Given the description of an element on the screen output the (x, y) to click on. 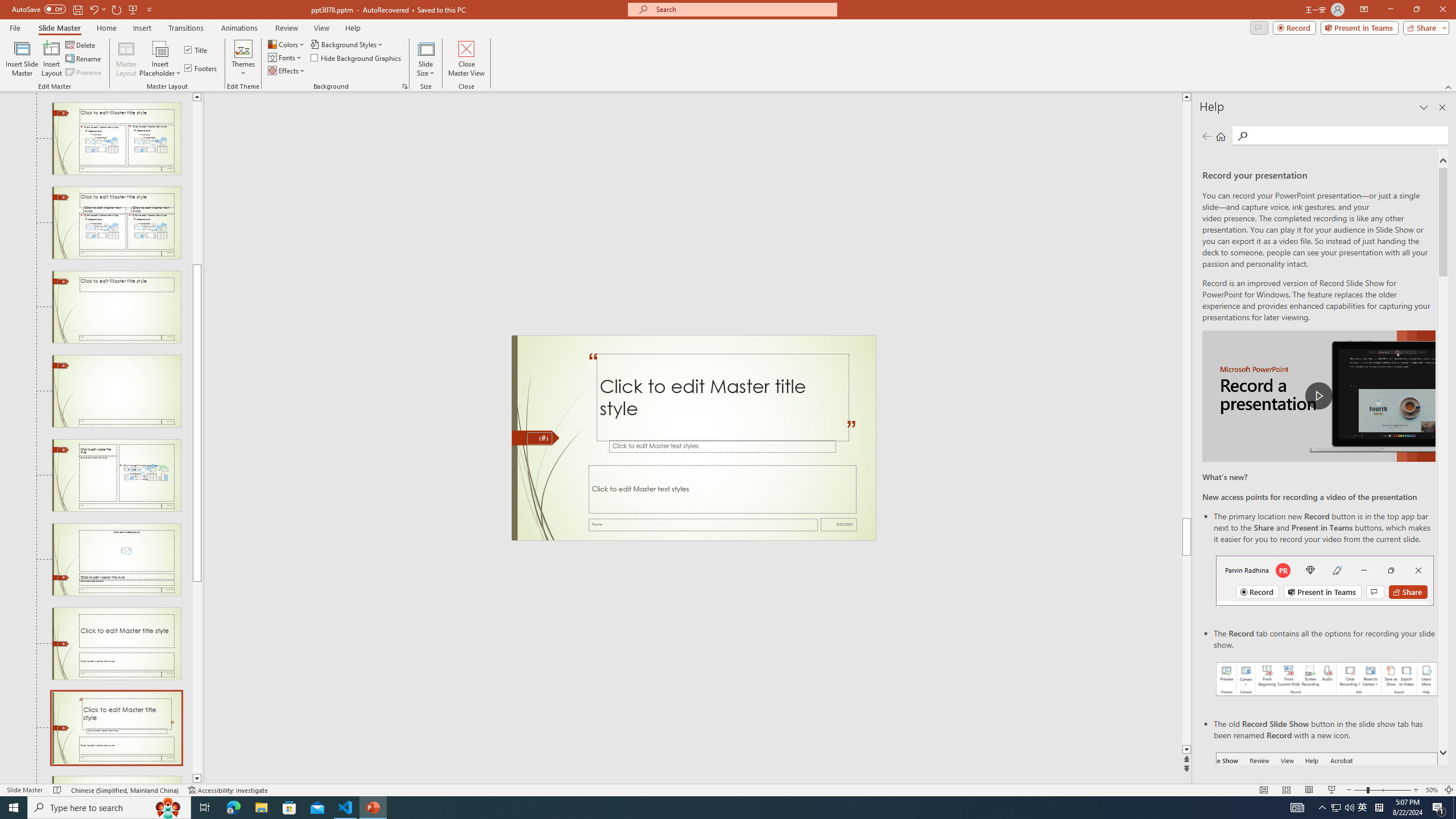
Zoom 50% (1431, 790)
Freeform 11 (535, 437)
Colors (287, 44)
